Given the description of an element on the screen output the (x, y) to click on. 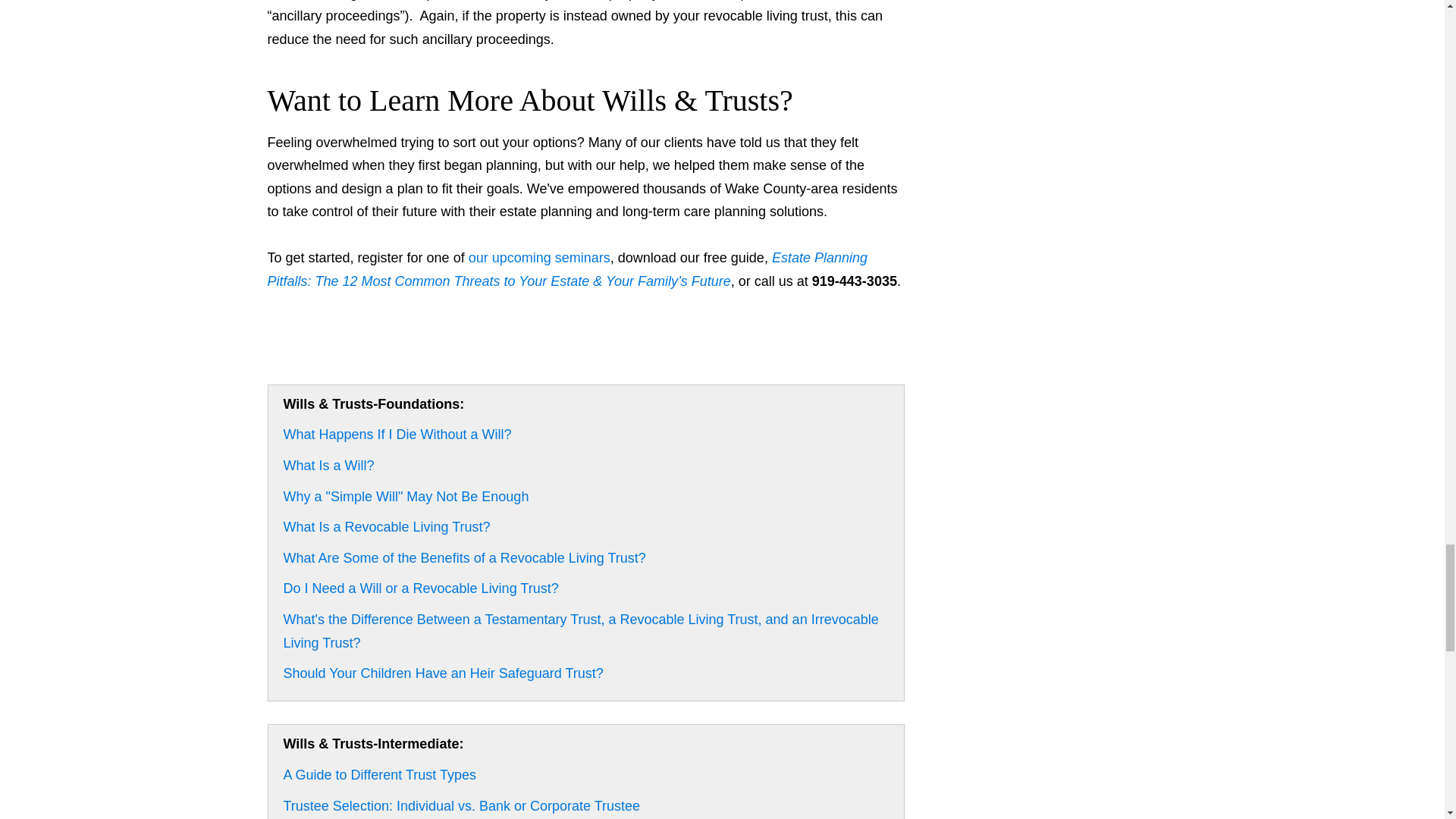
What Happens If I Die Without a Will? (397, 434)
What Are Some Benefits of a Revocable Living Trust? (464, 557)
Should Your Children Have an Heir Safeguard Trust? (443, 672)
Trustee Selection: Individual vs. Bank or Corporate Trustee (461, 805)
Do I Need a Will or a Revocable Living Trust? (421, 588)
What Is a Revocable Living Trust? (386, 526)
What Is a Will? (328, 465)
A Guide to Different Types of Trusts (379, 774)
Why a  (406, 496)
